Given the description of an element on the screen output the (x, y) to click on. 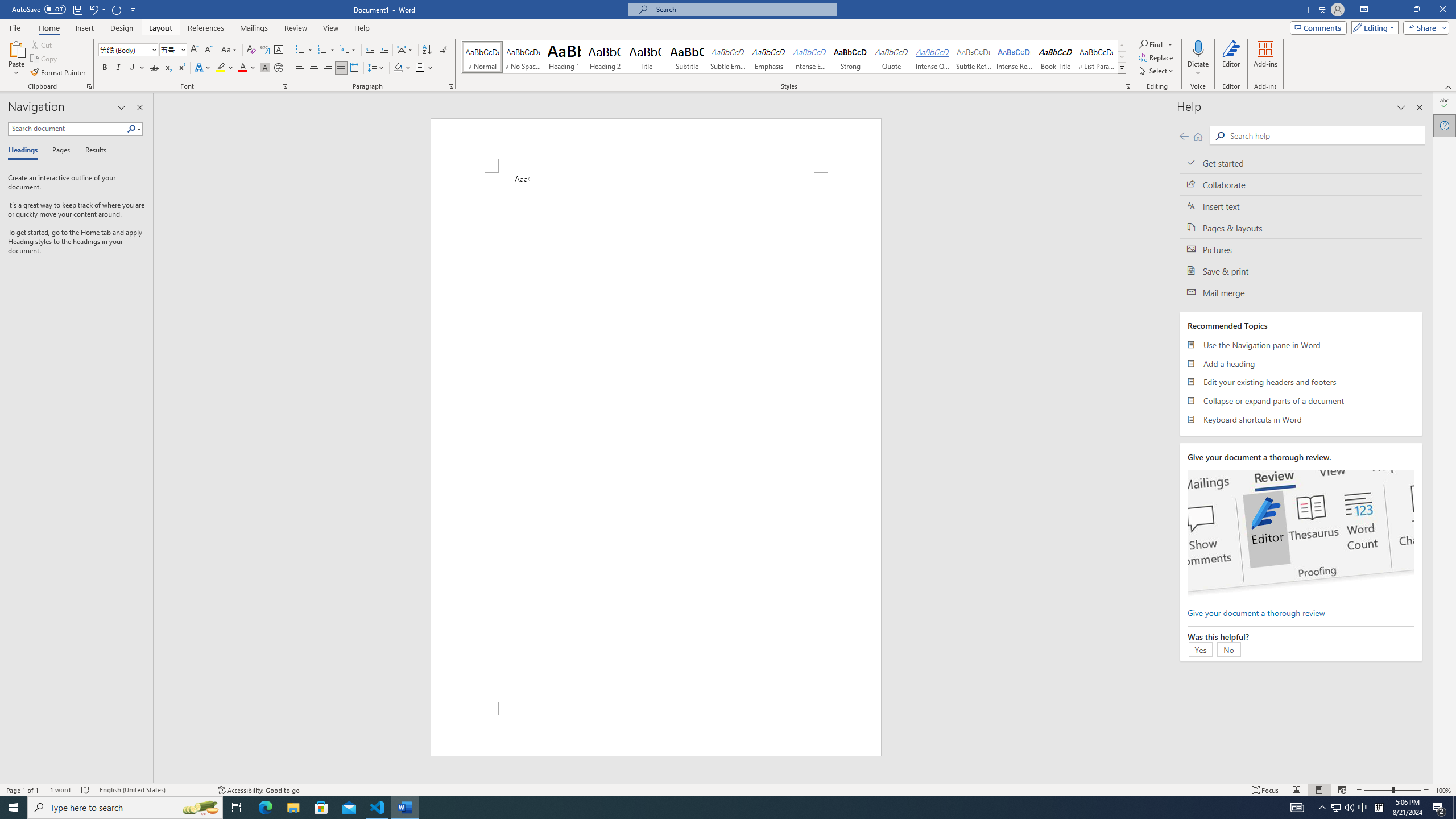
Collaborate (1300, 184)
Text Effects and Typography (202, 67)
Decrease Indent (370, 49)
Justify (340, 67)
Office Clipboard... (88, 85)
Grow Font (193, 49)
Repeat Increase Indent (117, 9)
editor ui screenshot (1300, 533)
Phonetic Guide... (264, 49)
